Given the description of an element on the screen output the (x, y) to click on. 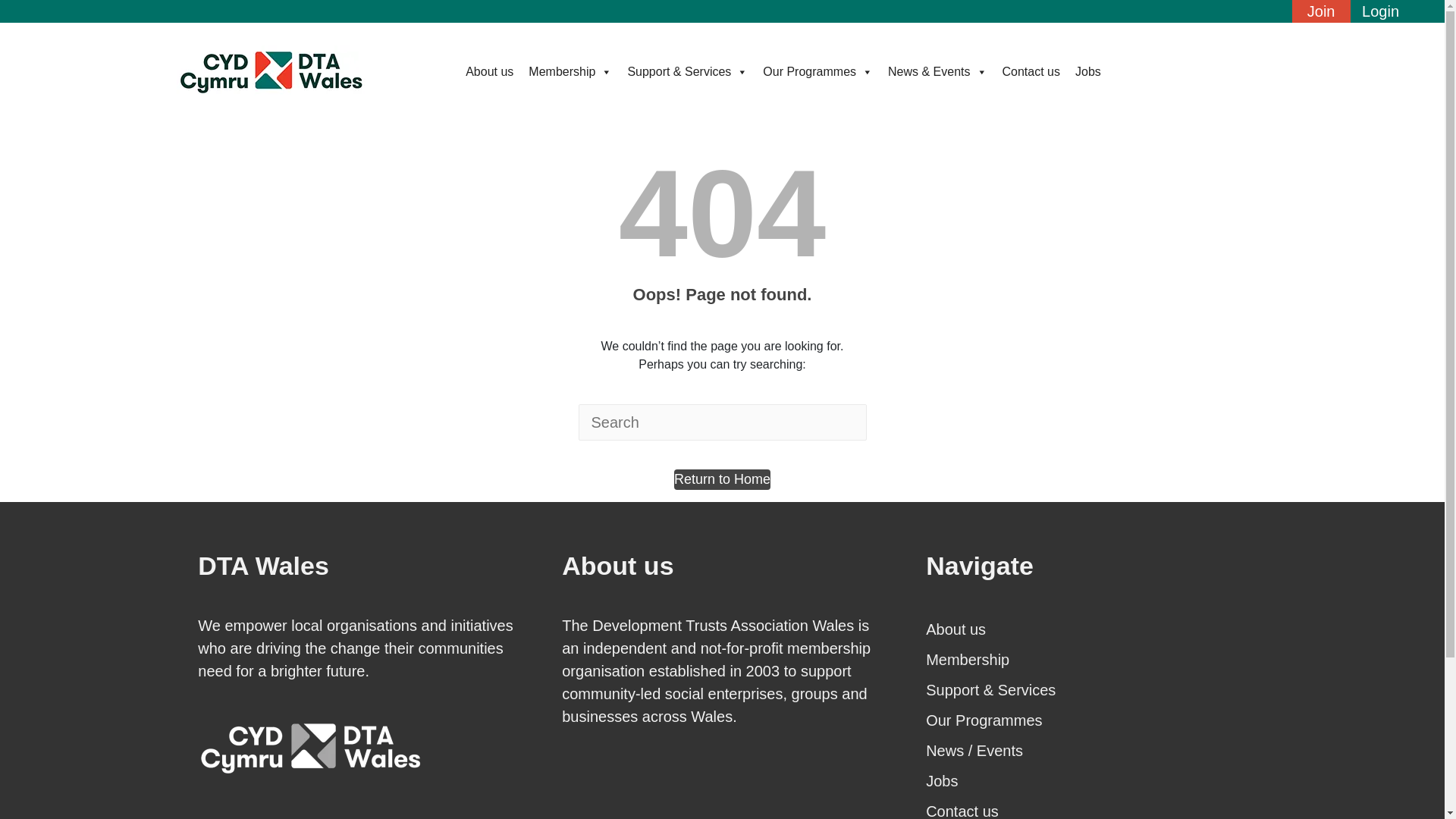
Contact us (1086, 807)
About us (1086, 629)
Jobs (1086, 780)
Login (1380, 13)
Membership (1086, 659)
Join (1321, 13)
Our Programmes (1086, 720)
Jobs (1087, 71)
Contact us (1030, 71)
Membership (570, 71)
Return to Home (722, 479)
Our Programmes (1086, 720)
Membership (1086, 659)
About us (1086, 629)
Contact us (1086, 807)
